Given the description of an element on the screen output the (x, y) to click on. 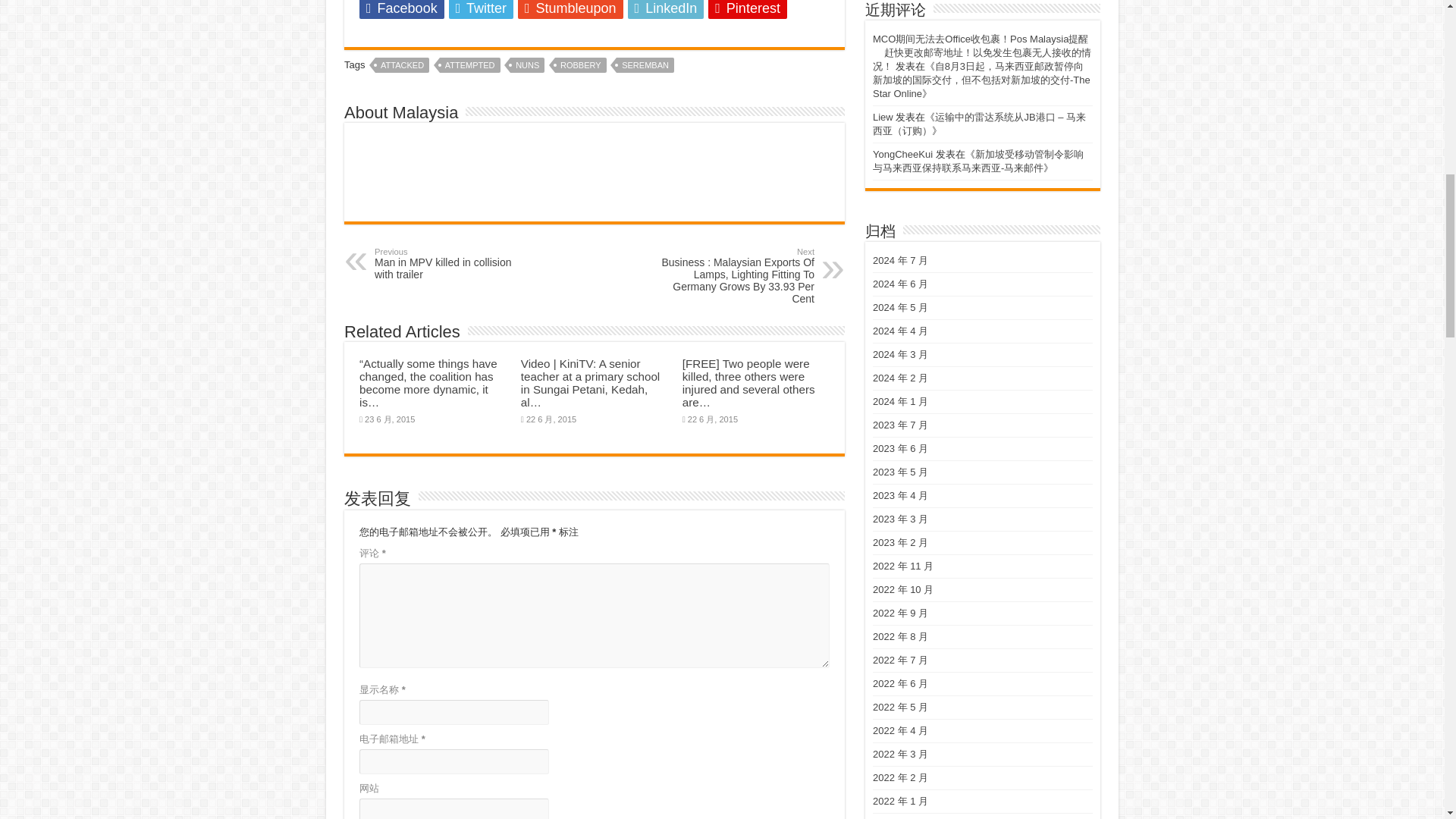
ROBBERY (580, 64)
NUNS (527, 64)
Facebook (401, 9)
Scroll To Top (1421, 60)
Pinterest (747, 9)
SEREMBAN (644, 64)
LinkedIn (451, 263)
Twitter (665, 9)
Stumbleupon (480, 9)
ATTACKED (570, 9)
ATTEMPTED (402, 64)
